Given the description of an element on the screen output the (x, y) to click on. 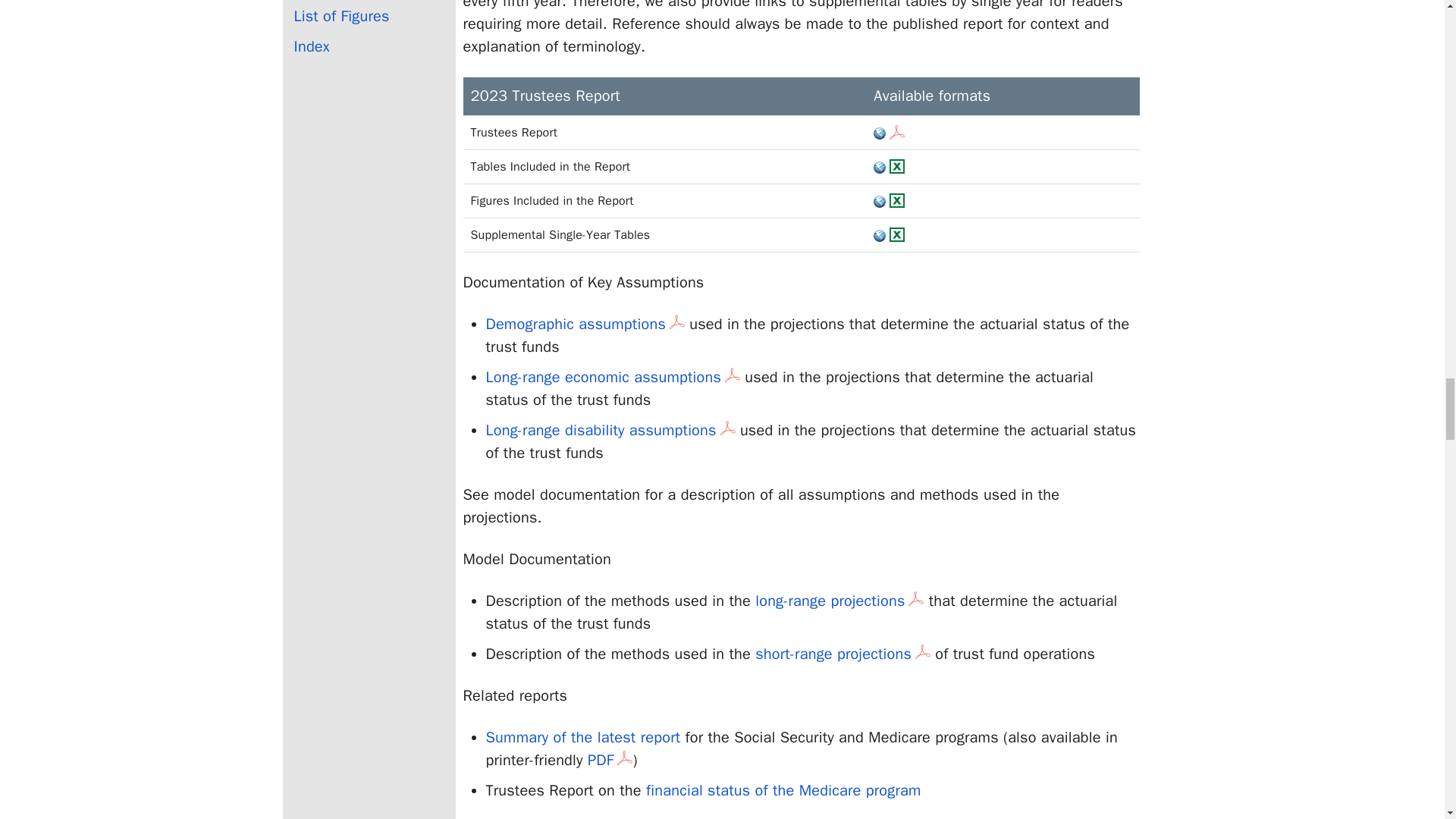
long-range projections (839, 600)
List of Figures (367, 16)
Index (367, 46)
financial status of the Medicare program (783, 790)
Summary of the latest report (581, 737)
PDF (610, 760)
Demographic assumptions (584, 323)
Long-range economic assumptions (611, 376)
Long-range disability assumptions (609, 429)
